Given the description of an element on the screen output the (x, y) to click on. 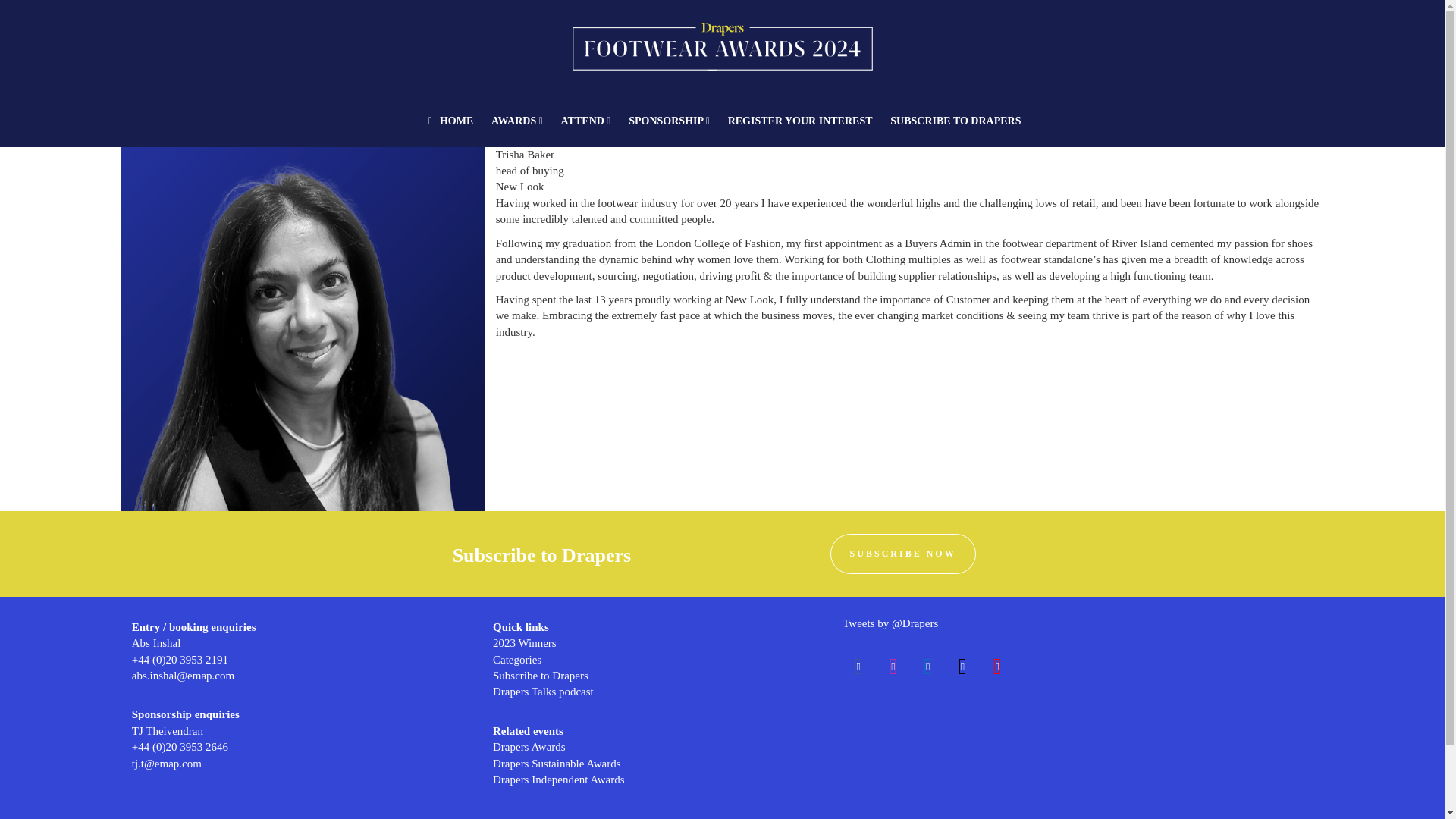
SUBSCRIBE TO DRAPERS (954, 121)
AWARDS (516, 121)
Drapers Sustainable Awards (557, 763)
Categories (517, 659)
SPONSORSHIP (669, 121)
ATTEND (585, 121)
Subscribe to Drapers (540, 675)
REGISTER YOUR INTEREST (800, 121)
Drapers Awards (529, 746)
2023 Winners (524, 643)
